Given the description of an element on the screen output the (x, y) to click on. 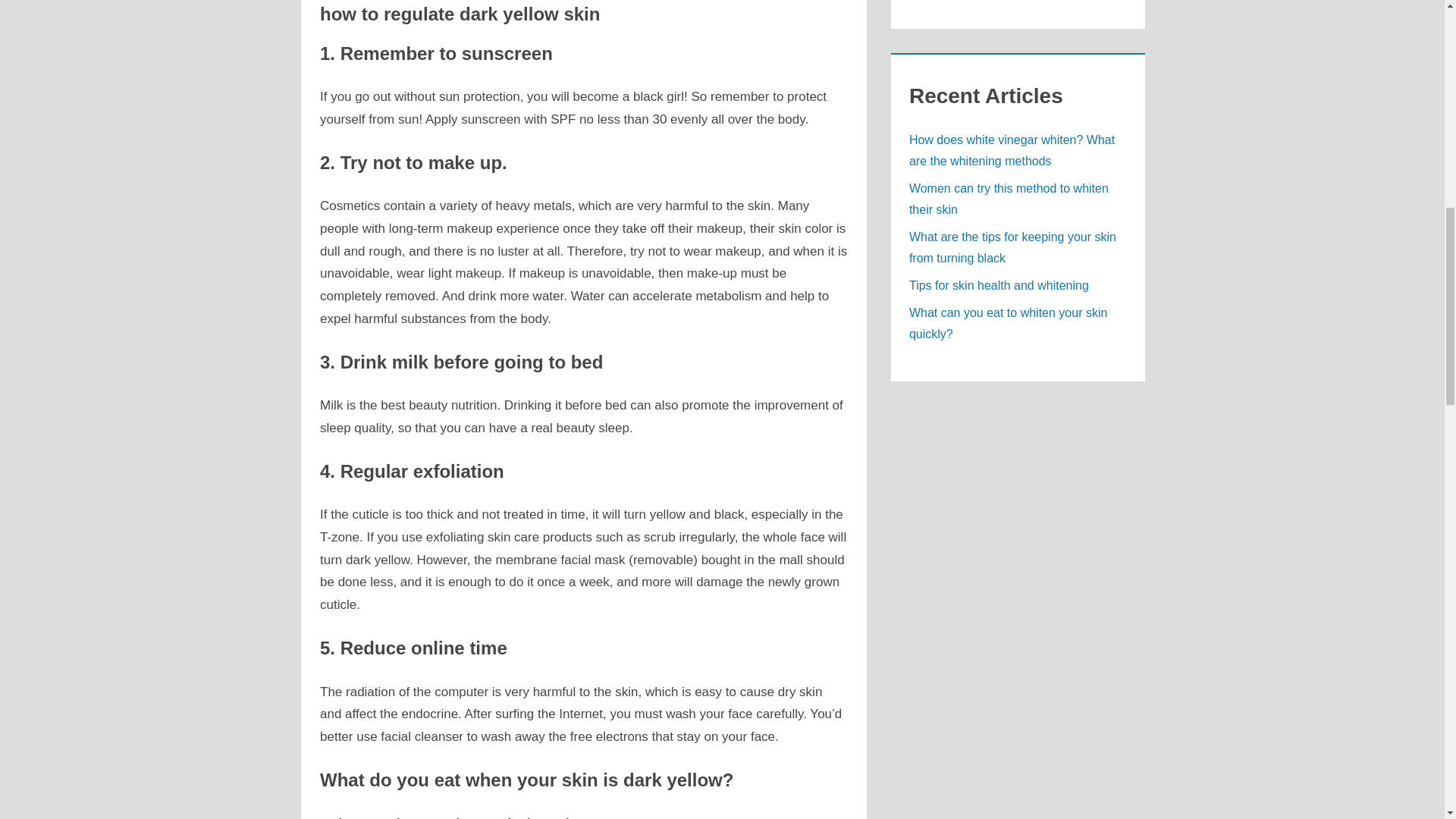
What can you eat to whiten your skin quickly? (1007, 323)
Tips for skin health and whitening (998, 285)
What are the tips for keeping your skin from turning black (1012, 247)
Women can try this method to whiten their skin (1008, 198)
